Given the description of an element on the screen output the (x, y) to click on. 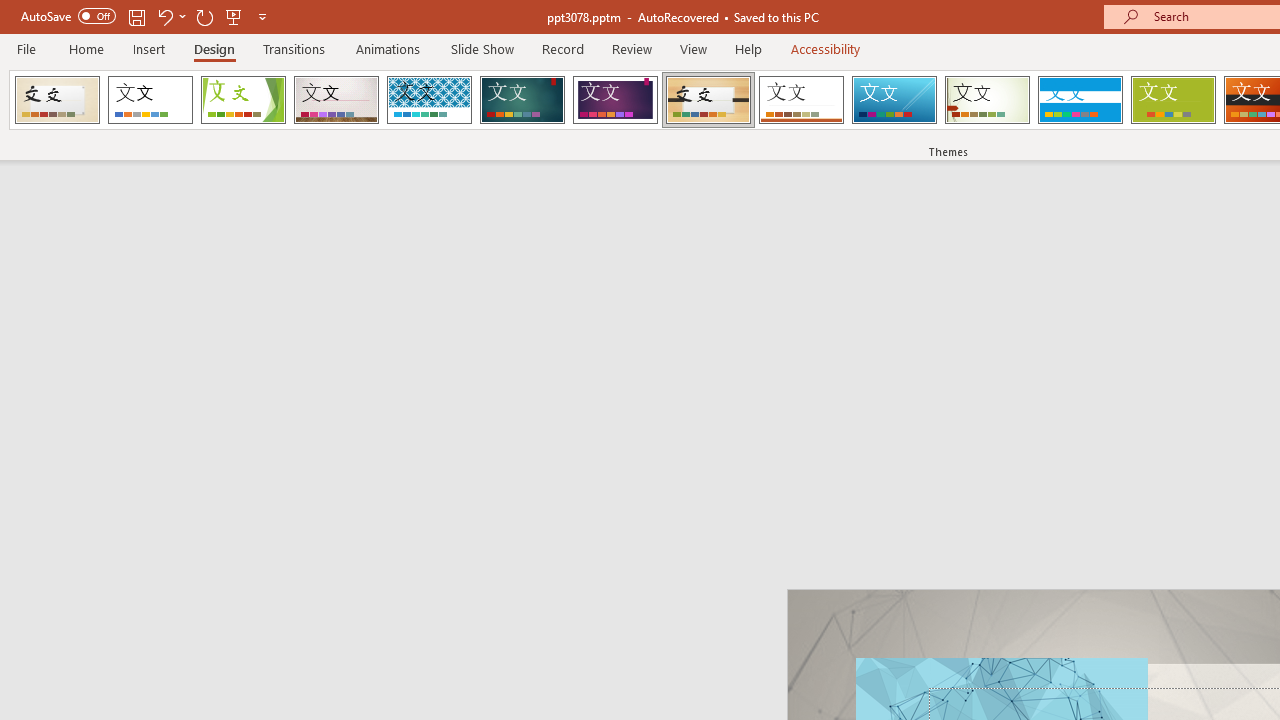
Office Theme (150, 100)
Banded (1080, 100)
Ion Boardroom (615, 100)
Ion (522, 100)
Slice (893, 100)
Organic (708, 100)
